Given the description of an element on the screen output the (x, y) to click on. 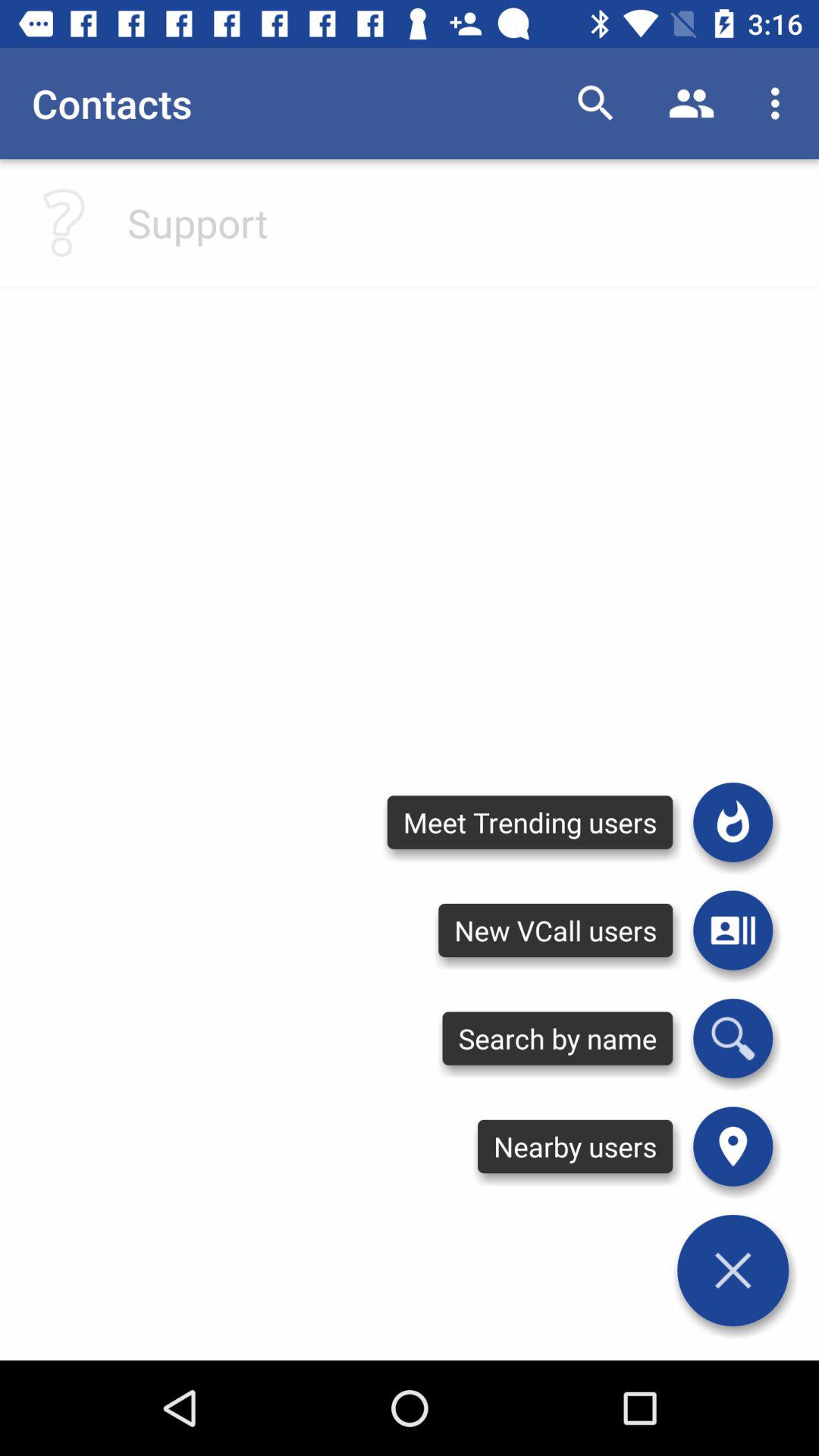
choose the icon next to the meet trending users item (733, 822)
